Given the description of an element on the screen output the (x, y) to click on. 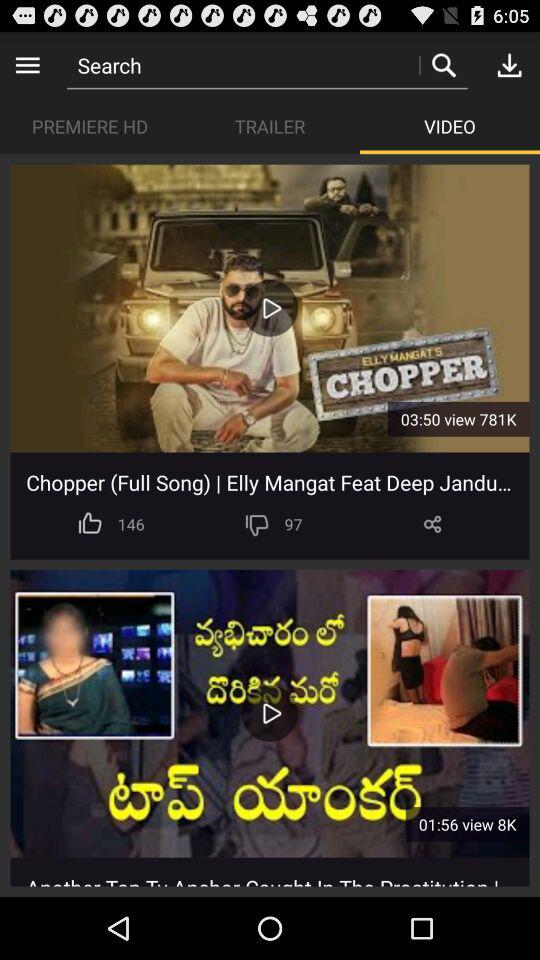
like (89, 523)
